Given the description of an element on the screen output the (x, y) to click on. 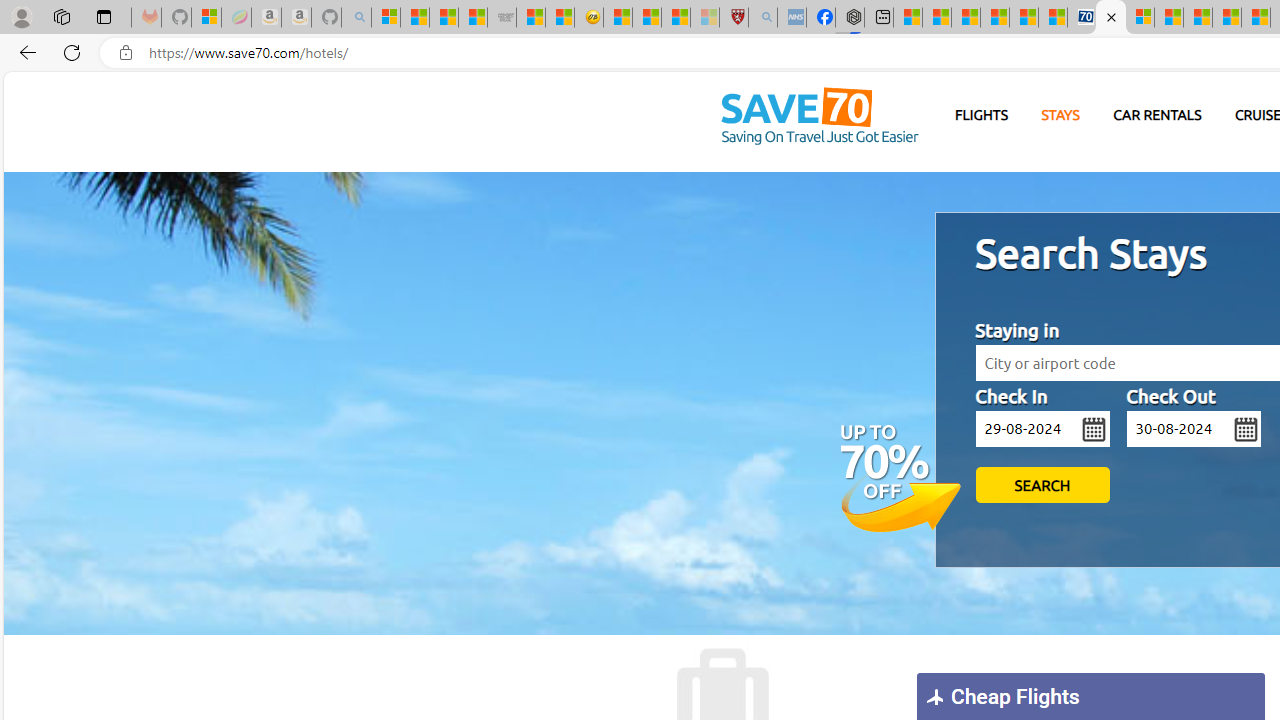
SEARCH (1042, 485)
FLIGHTS (981, 115)
STAYS (1060, 115)
